Given the description of an element on the screen output the (x, y) to click on. 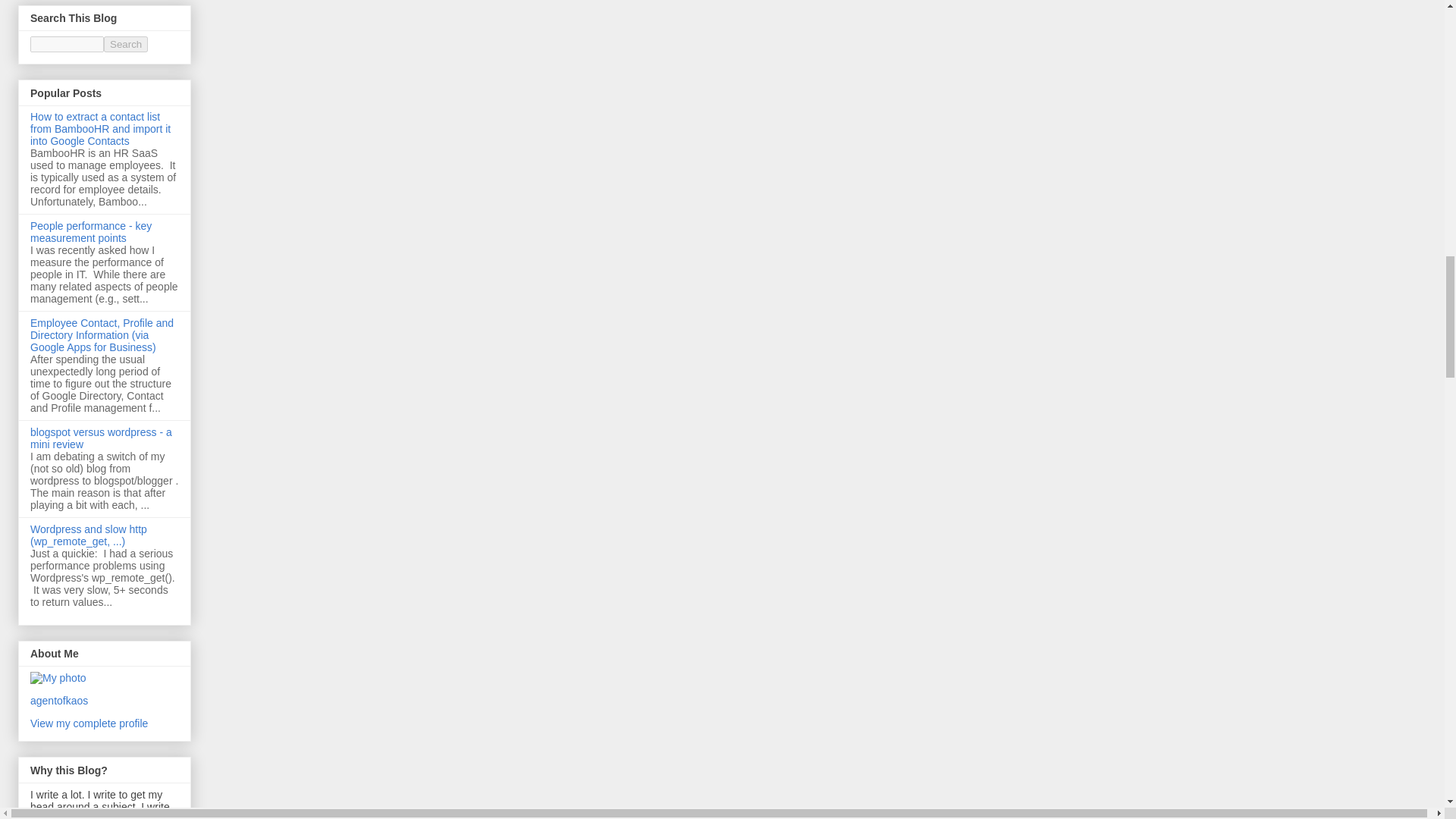
agentofkaos (58, 700)
View my complete profile (89, 723)
Search (125, 44)
People performance - key measurement points (90, 232)
blogspot versus wordpress - a mini review (100, 437)
search (66, 44)
Search (125, 44)
search (125, 44)
Search (125, 44)
